Given the description of an element on the screen output the (x, y) to click on. 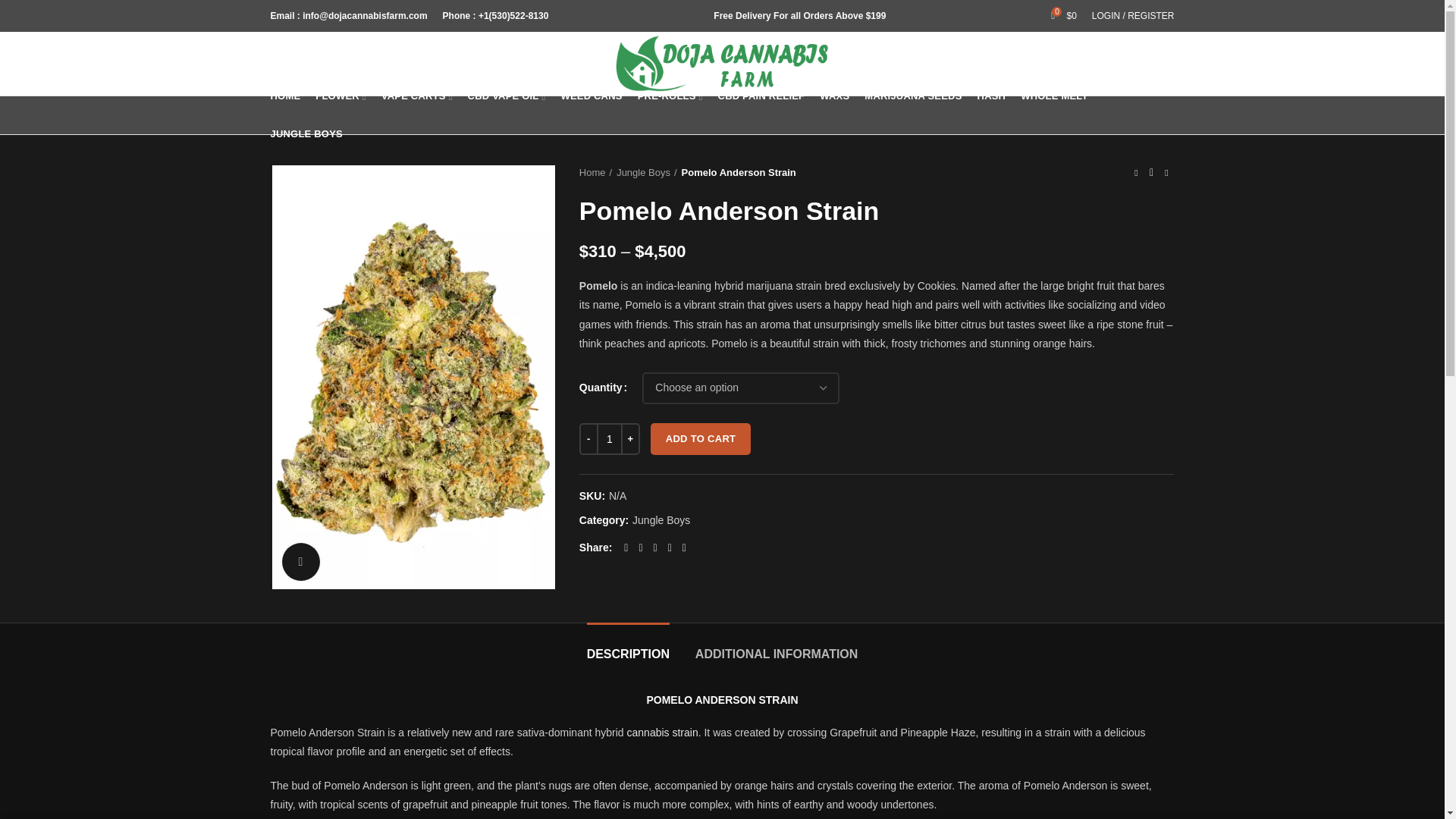
JUNGLE BOYS (305, 134)
HASH (991, 95)
FLOWER (339, 95)
CBD PAIN RELIEF (761, 95)
WAXS (834, 95)
PRE-ROLLS (670, 95)
Log in (1049, 231)
CBD VAPE OIL (506, 95)
Next product (1165, 172)
Shopping cart (1063, 15)
